Given the description of an element on the screen output the (x, y) to click on. 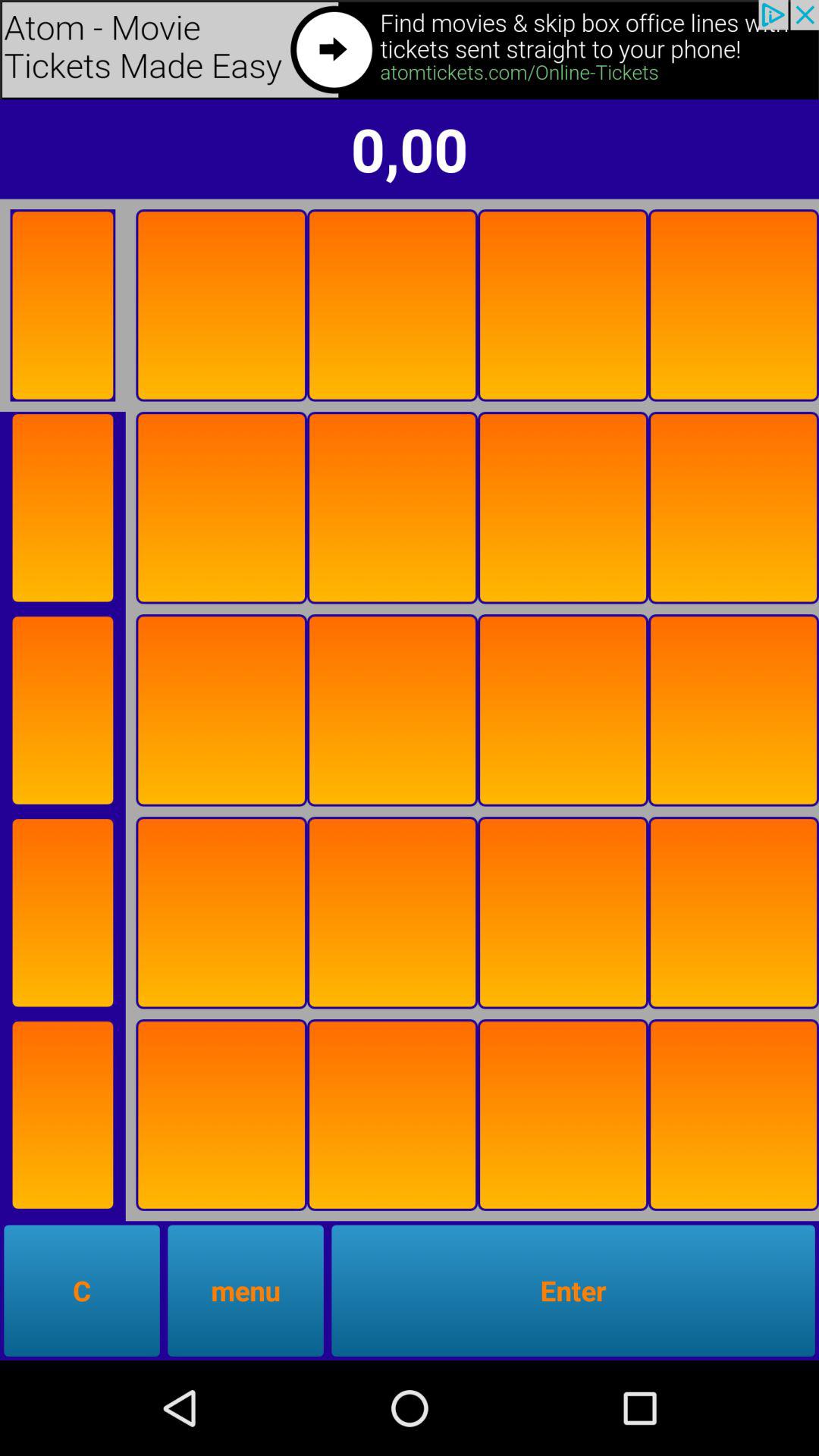
flip card (62, 1114)
